Given the description of an element on the screen output the (x, y) to click on. 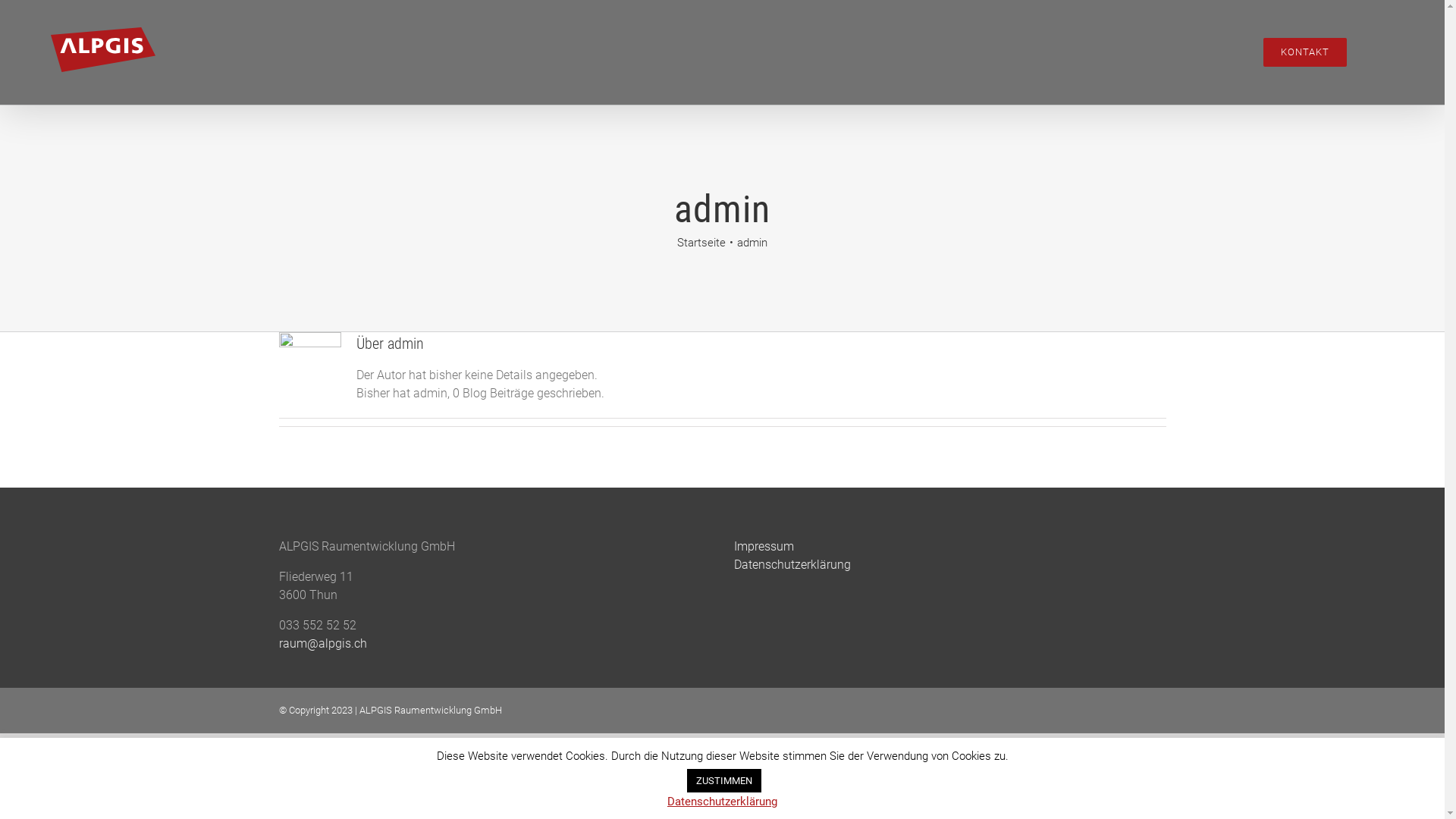
ZUSTIMMEN Element type: text (724, 780)
KONTAKT Element type: text (1304, 51)
raum@alpgis.ch Element type: text (323, 643)
Startseite Element type: text (701, 242)
Impressum Element type: text (763, 546)
